Given the description of an element on the screen output the (x, y) to click on. 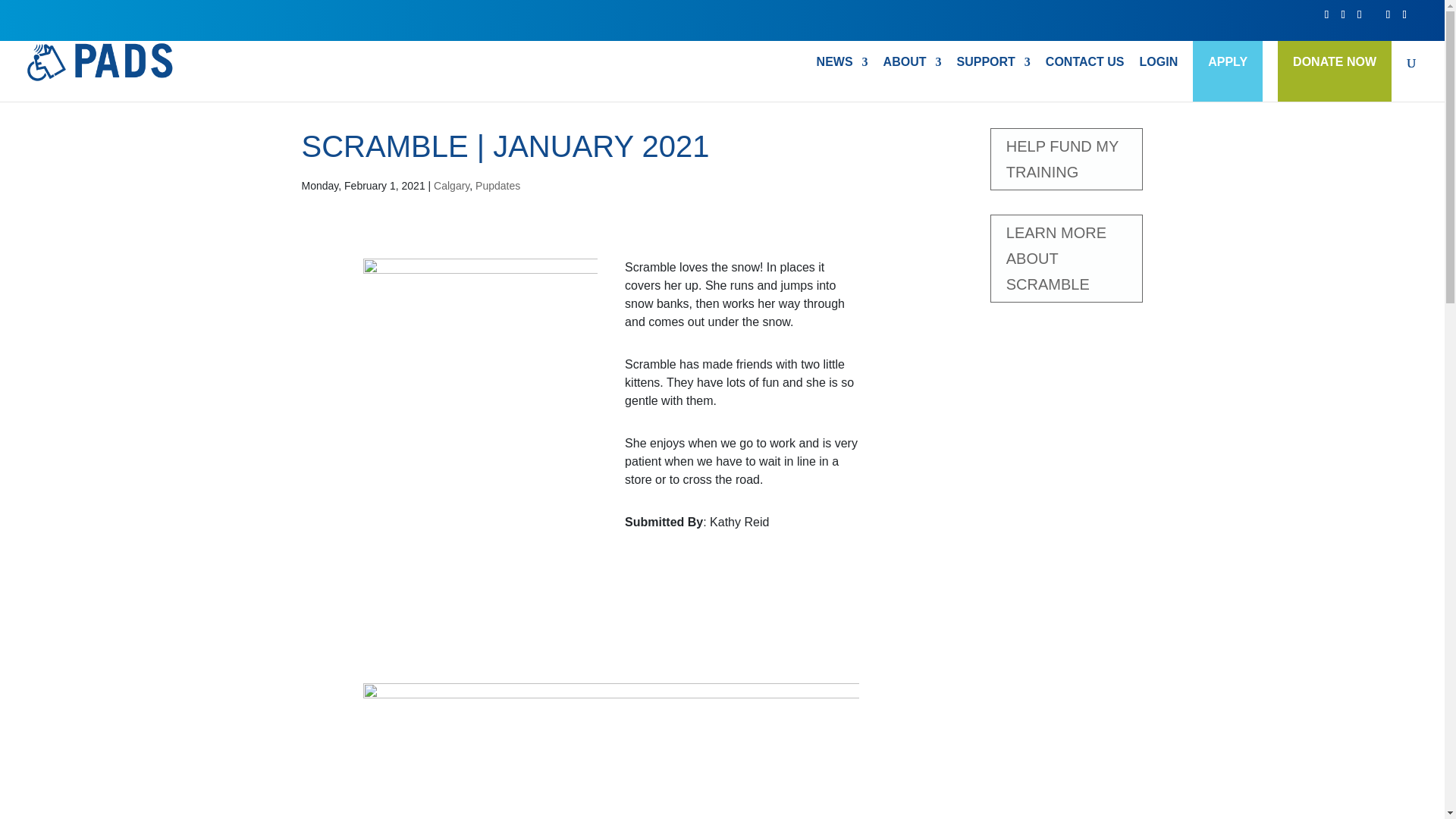
NEWS (841, 78)
DONATE NOW (1334, 61)
CONTACT US (1084, 78)
HELP FUND MY TRAINING (1066, 258)
Pupdates (1066, 158)
ABOUT (497, 185)
SUPPORT (912, 78)
Calgary (992, 78)
